Given the description of an element on the screen output the (x, y) to click on. 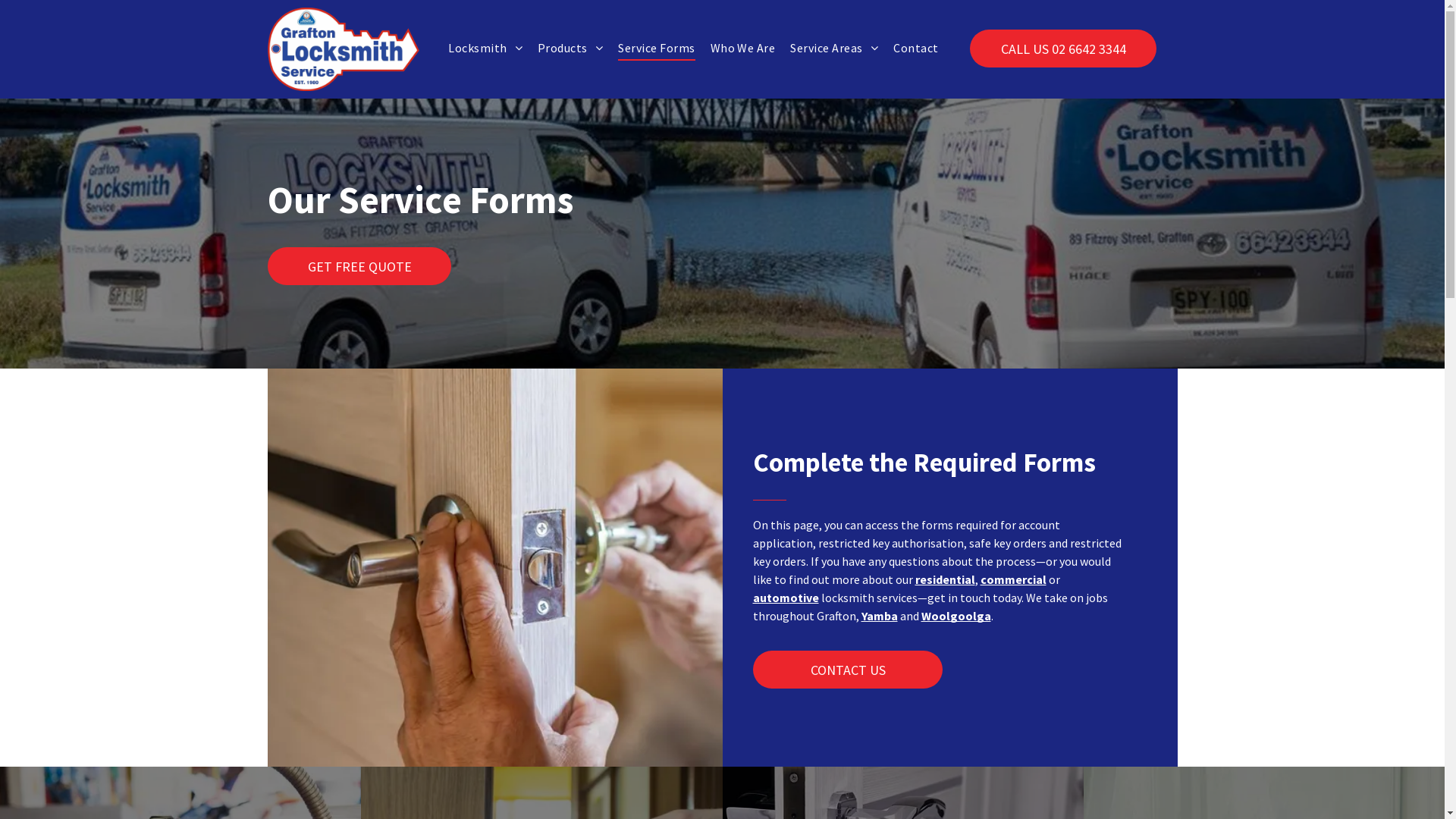
Service Forms Element type: text (648, 47)
CONTACT US Element type: text (846, 669)
Locksmith Element type: text (477, 47)
commercial Element type: text (1012, 578)
residential Element type: text (944, 578)
Yamba Element type: text (879, 615)
Contact Element type: text (908, 47)
automotive Element type: text (785, 597)
Who We Are Element type: text (735, 47)
GET FREE QUOTE Element type: text (358, 266)
Service Areas Element type: text (826, 47)
Woolgoolga Element type: text (955, 615)
CALL US 02 6642 3344 Element type: text (1062, 48)
Products Element type: text (562, 47)
